Given the description of an element on the screen output the (x, y) to click on. 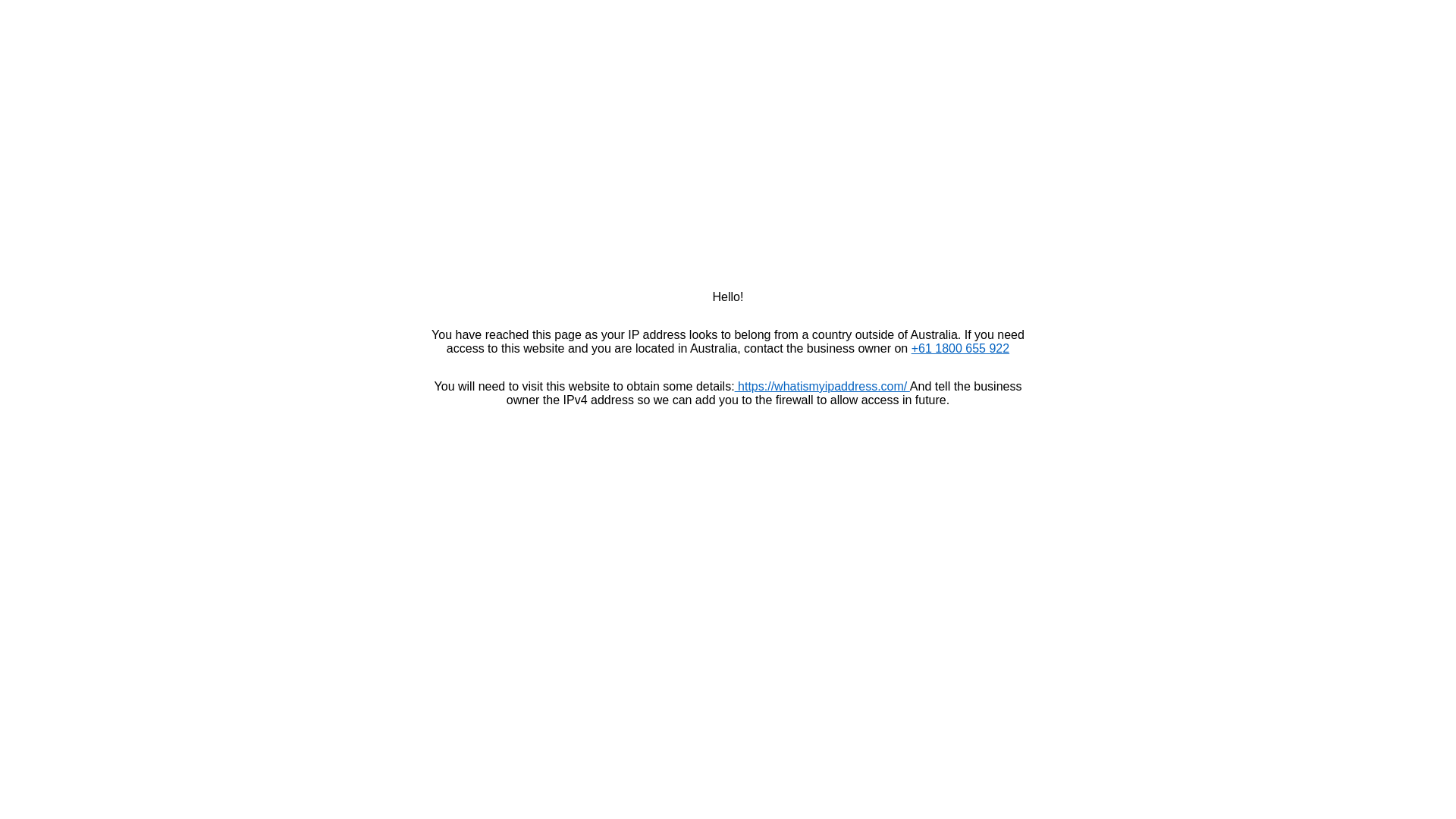
https://whatismyipaddress.com/ Element type: text (822, 385)
+61 1800 655 922 Element type: text (960, 348)
